Given the description of an element on the screen output the (x, y) to click on. 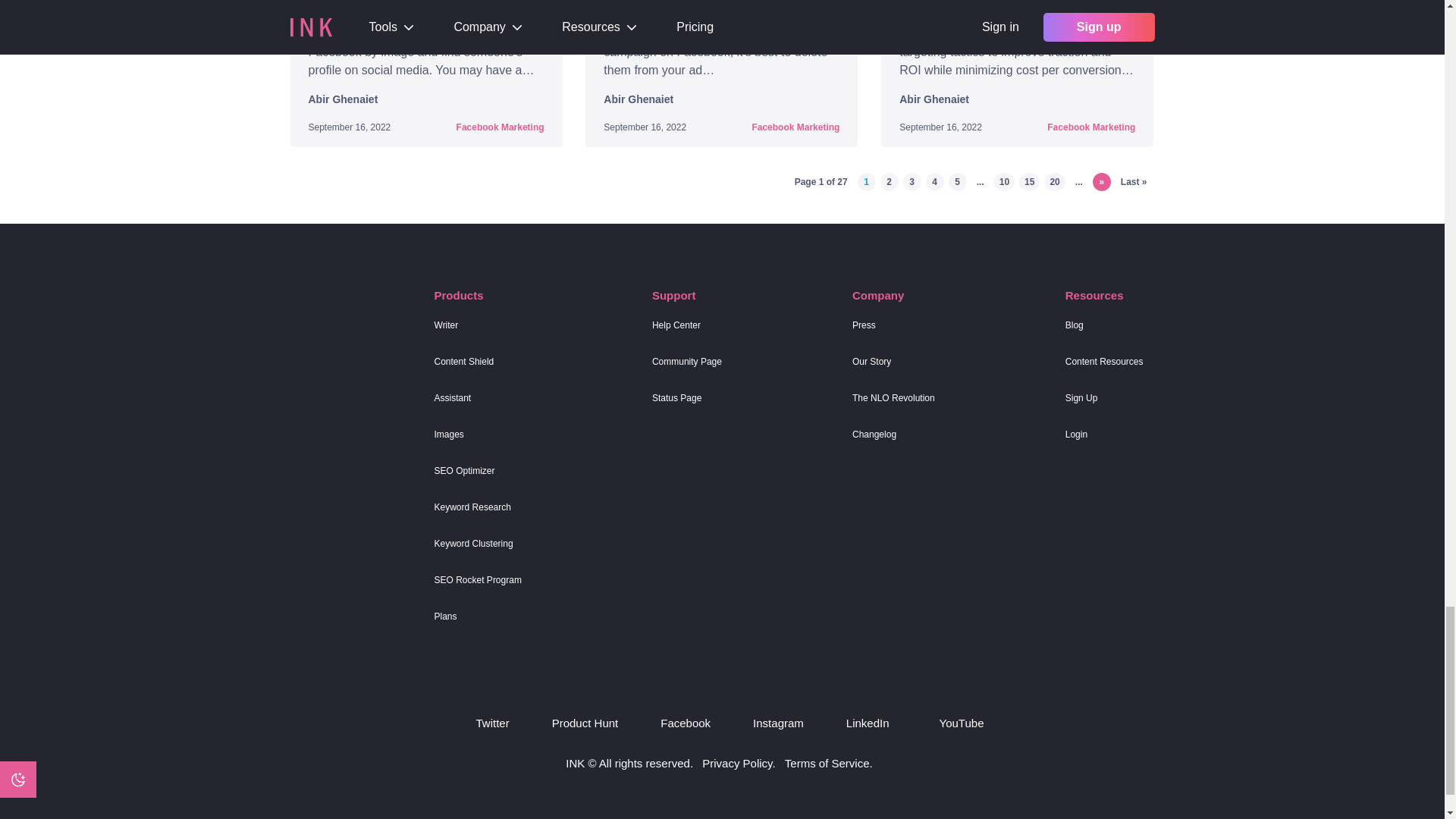
Page 2 (889, 181)
Page 5 (957, 181)
Page 10 (1004, 181)
Page 4 (934, 181)
Page 20 (1053, 181)
Page 15 (1029, 181)
Page 3 (911, 181)
